Given the description of an element on the screen output the (x, y) to click on. 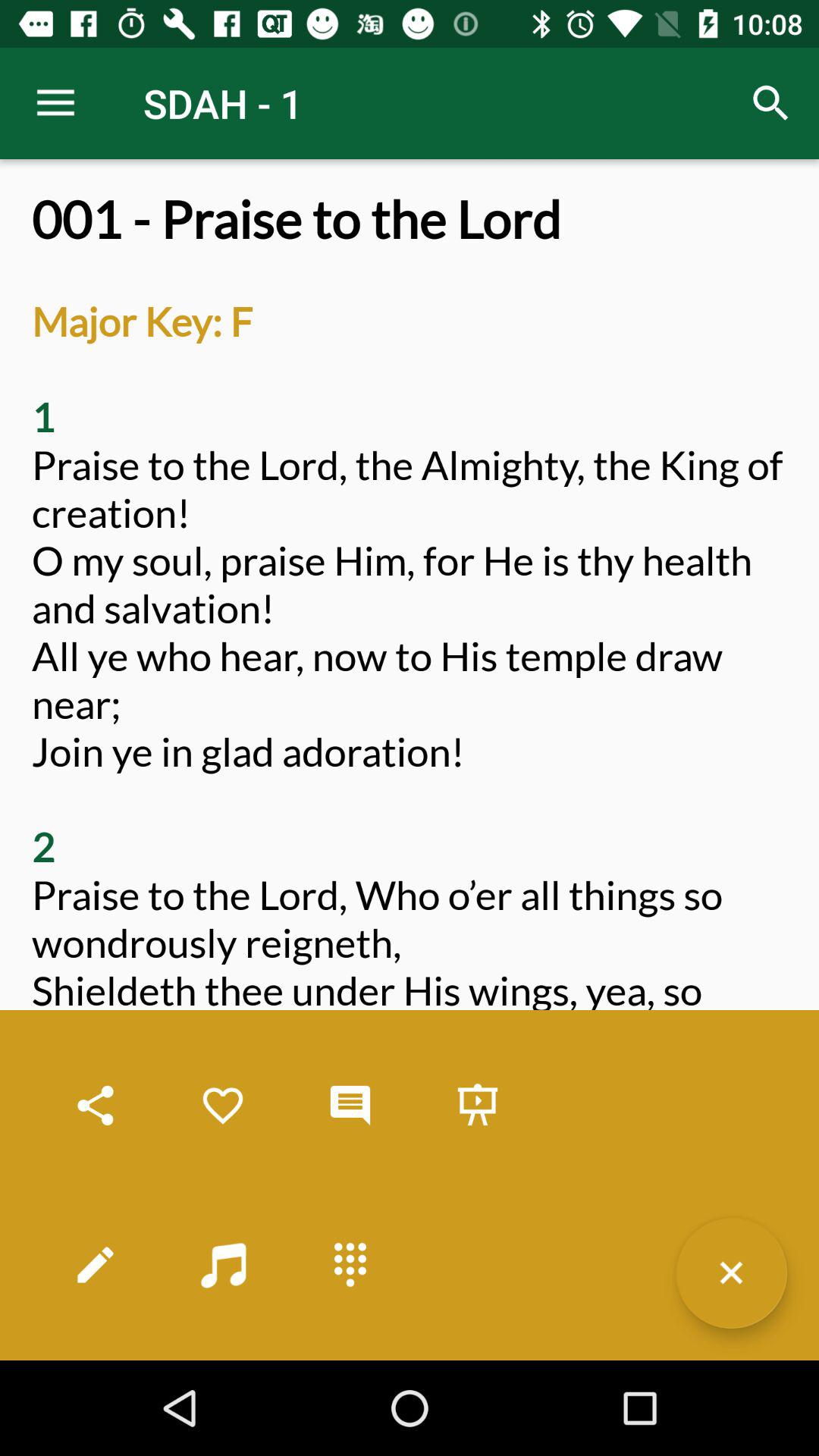
turn on item at the bottom right corner (731, 1272)
